Given the description of an element on the screen output the (x, y) to click on. 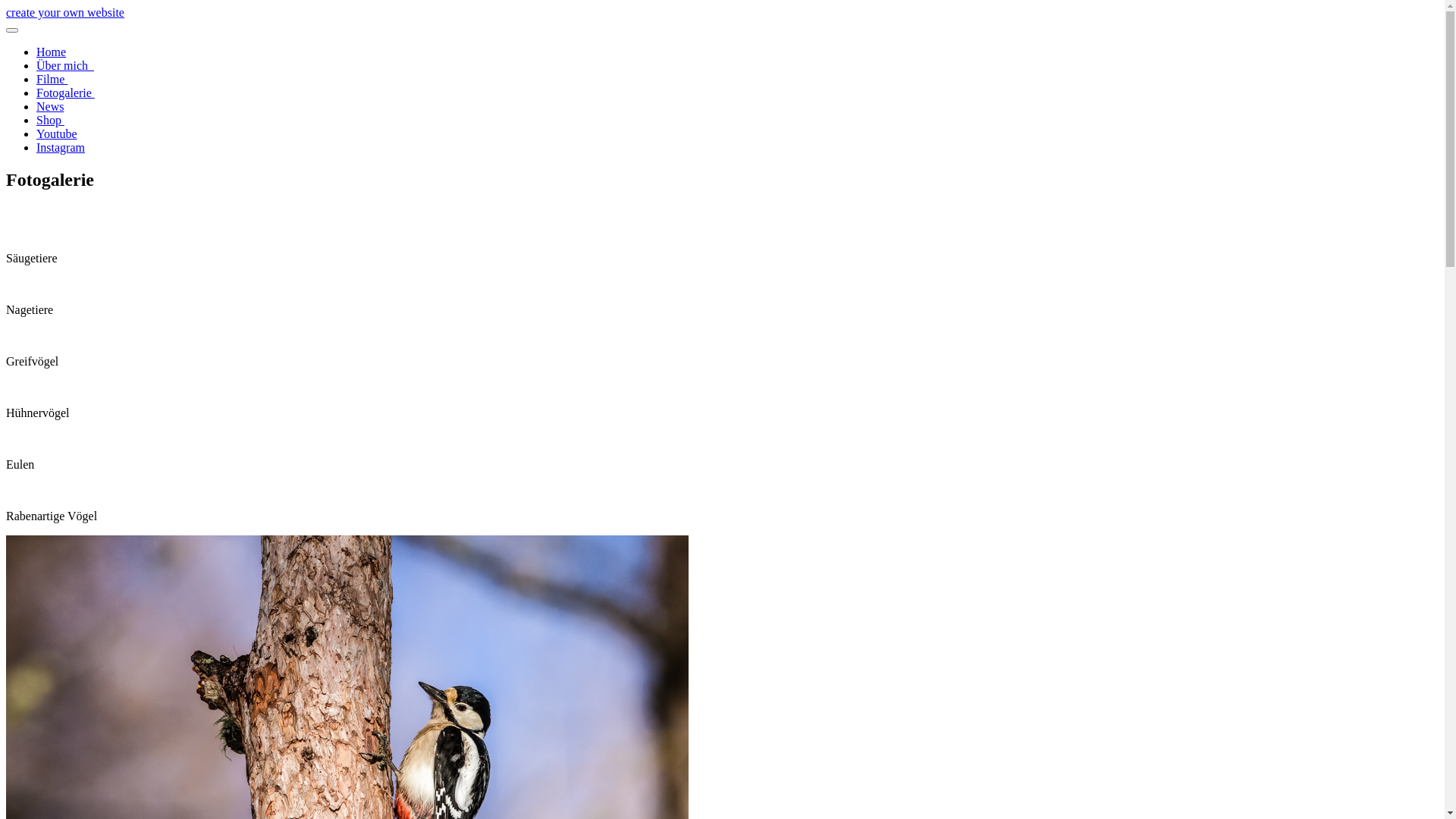
Shop  Element type: text (50, 119)
Home Element type: text (50, 51)
Filme  Element type: text (51, 78)
Fotogalerie  Element type: text (65, 92)
create your own website Element type: text (65, 12)
Youtube Element type: text (56, 133)
News Element type: text (49, 106)
Instagram Element type: text (60, 147)
